Given the description of an element on the screen output the (x, y) to click on. 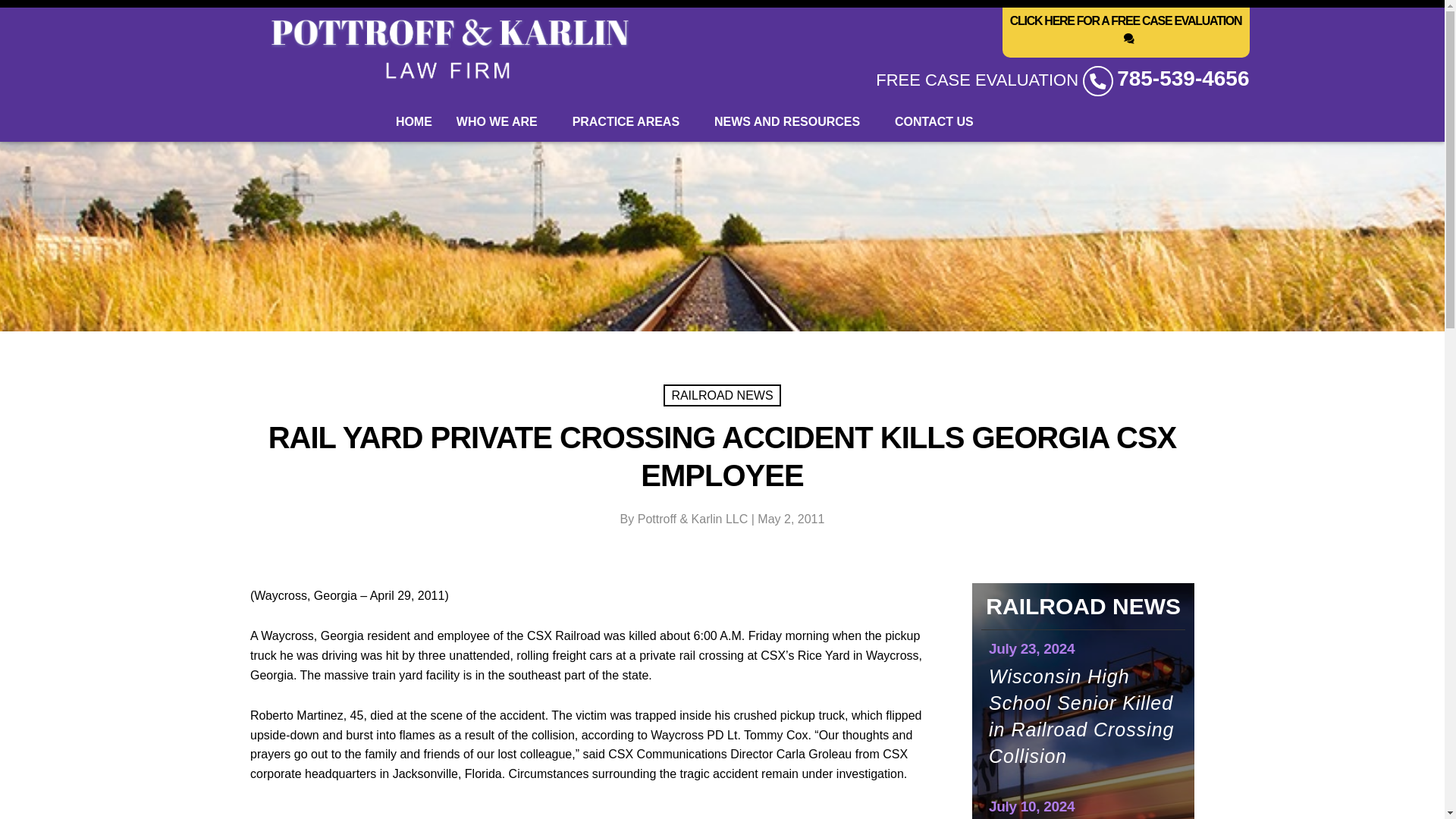
CLICK HERE FOR A FREE CASE EVALUATION (1126, 32)
WHO WE ARE (501, 122)
785-539-4656 (1182, 78)
PRACTICE AREAS (630, 122)
HOME (414, 122)
